Given the description of an element on the screen output the (x, y) to click on. 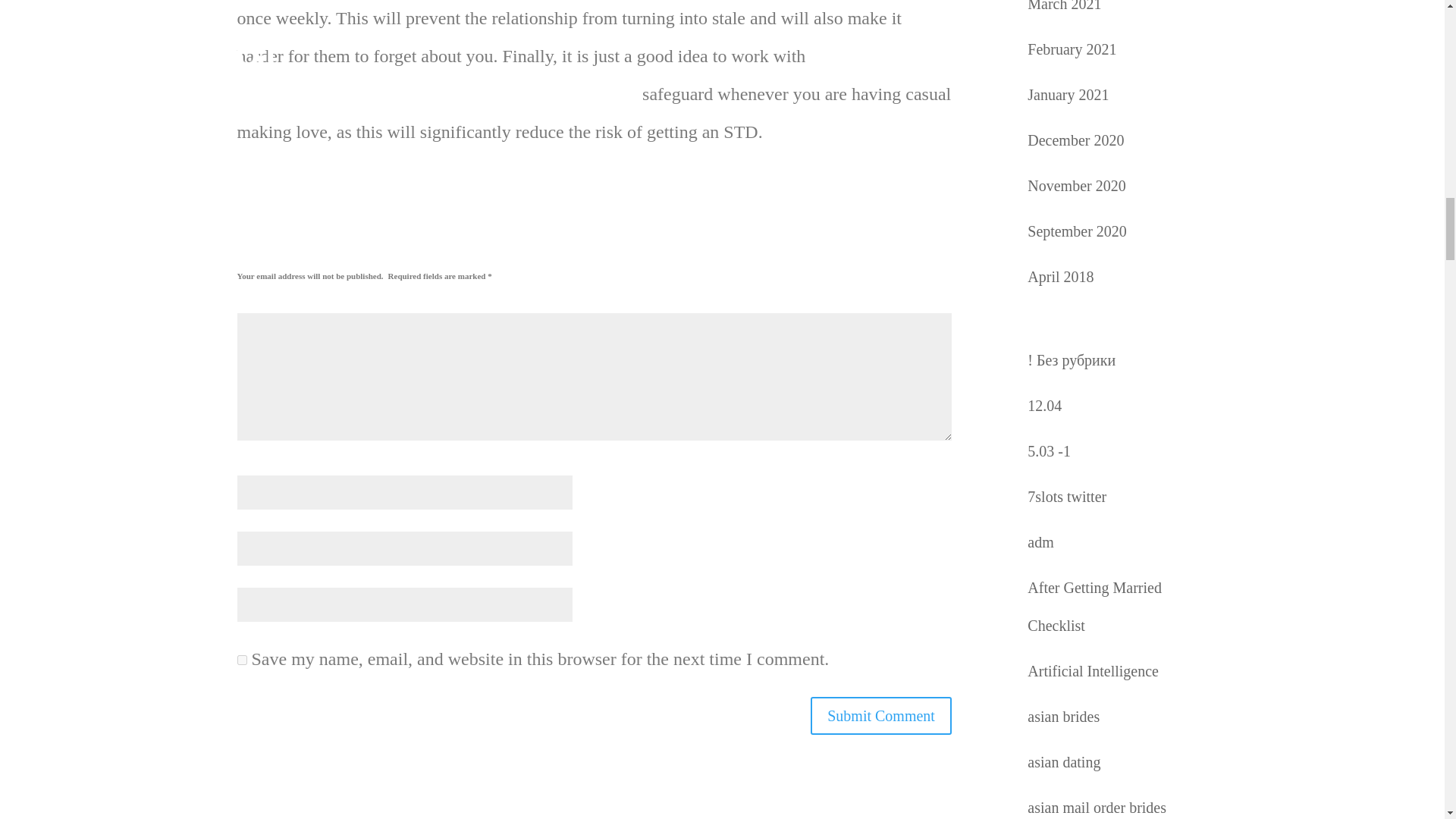
yes (240, 660)
Submit Comment (881, 715)
Submit Comment (881, 715)
